Given the description of an element on the screen output the (x, y) to click on. 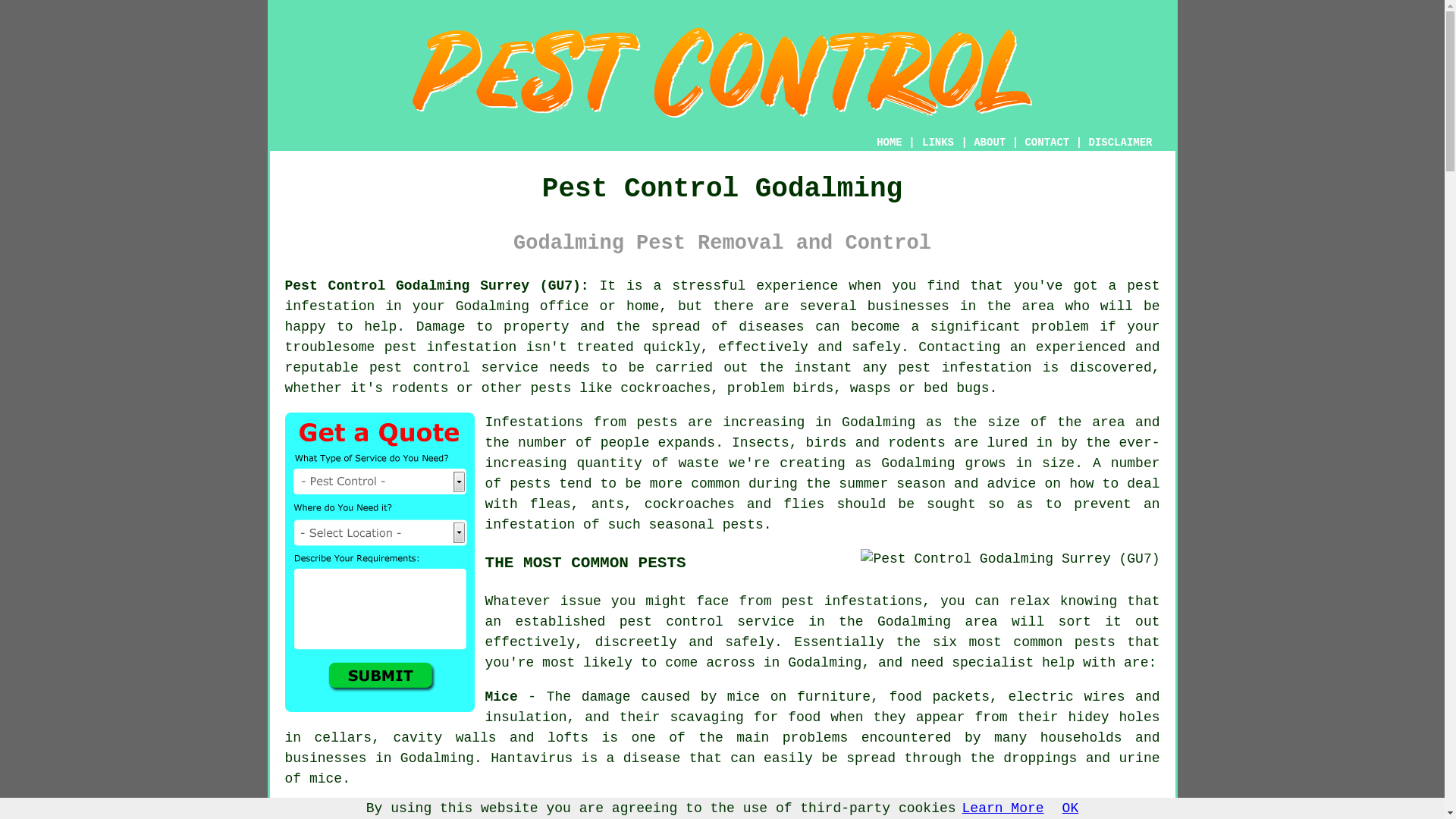
mice (325, 778)
HOME (889, 142)
Pest Control Godalming (721, 72)
LINKS (938, 142)
Rats (727, 812)
seasonal pests (705, 524)
pests (657, 421)
pest control (671, 621)
